Given the description of an element on the screen output the (x, y) to click on. 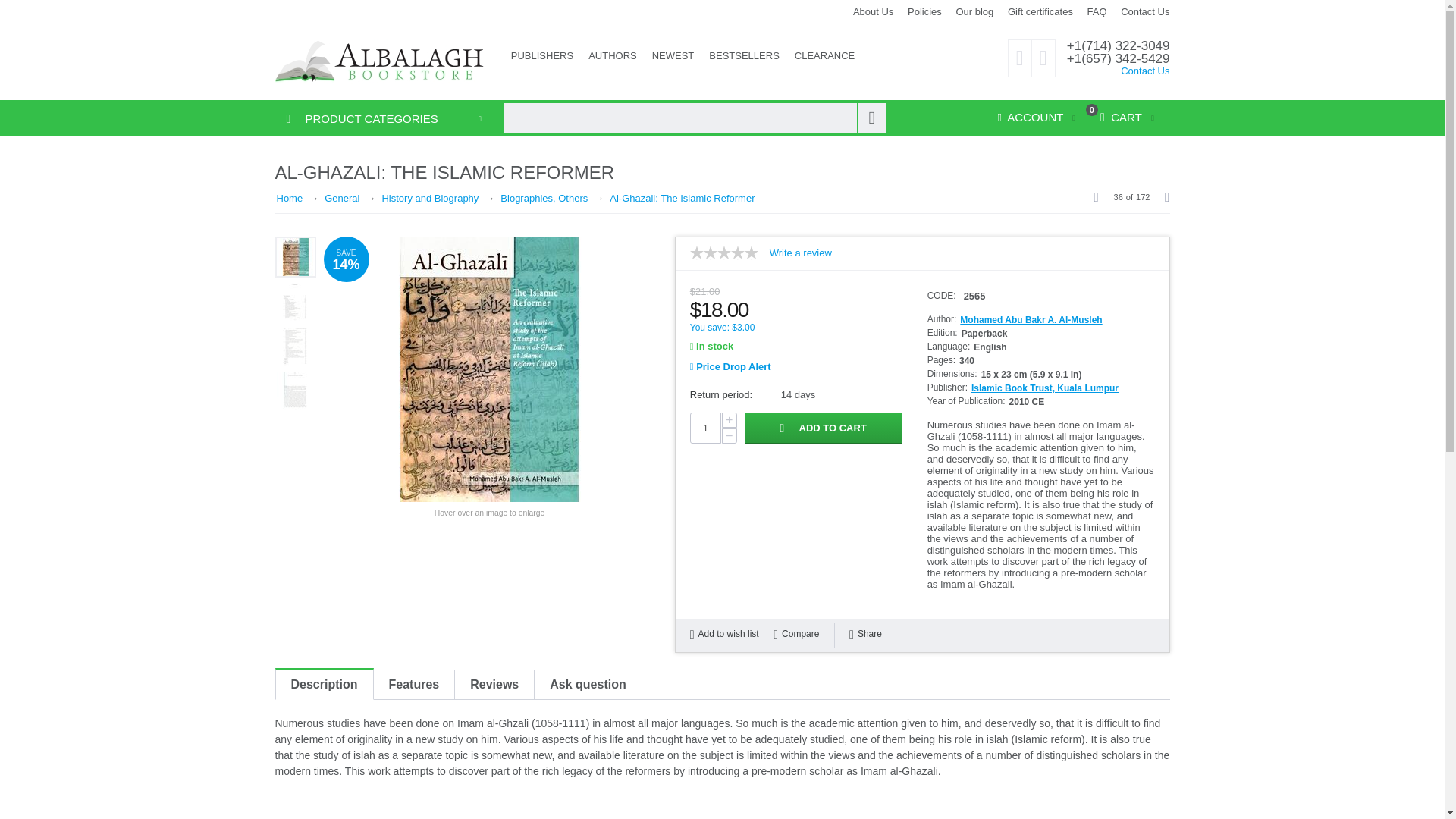
FAQ (1096, 11)
PRODUCT CATEGORIES (356, 118)
Search (871, 117)
AUTHORS (612, 55)
Albalagh Bookstore (379, 60)
1 (705, 427)
NEWEST (673, 55)
Contact Us (1145, 70)
Our blog (973, 11)
Contact Us (1145, 11)
Search products (693, 117)
Policies (924, 11)
PUBLISHERS (541, 55)
Gift certificates (1040, 11)
About Us (873, 11)
